Given the description of an element on the screen output the (x, y) to click on. 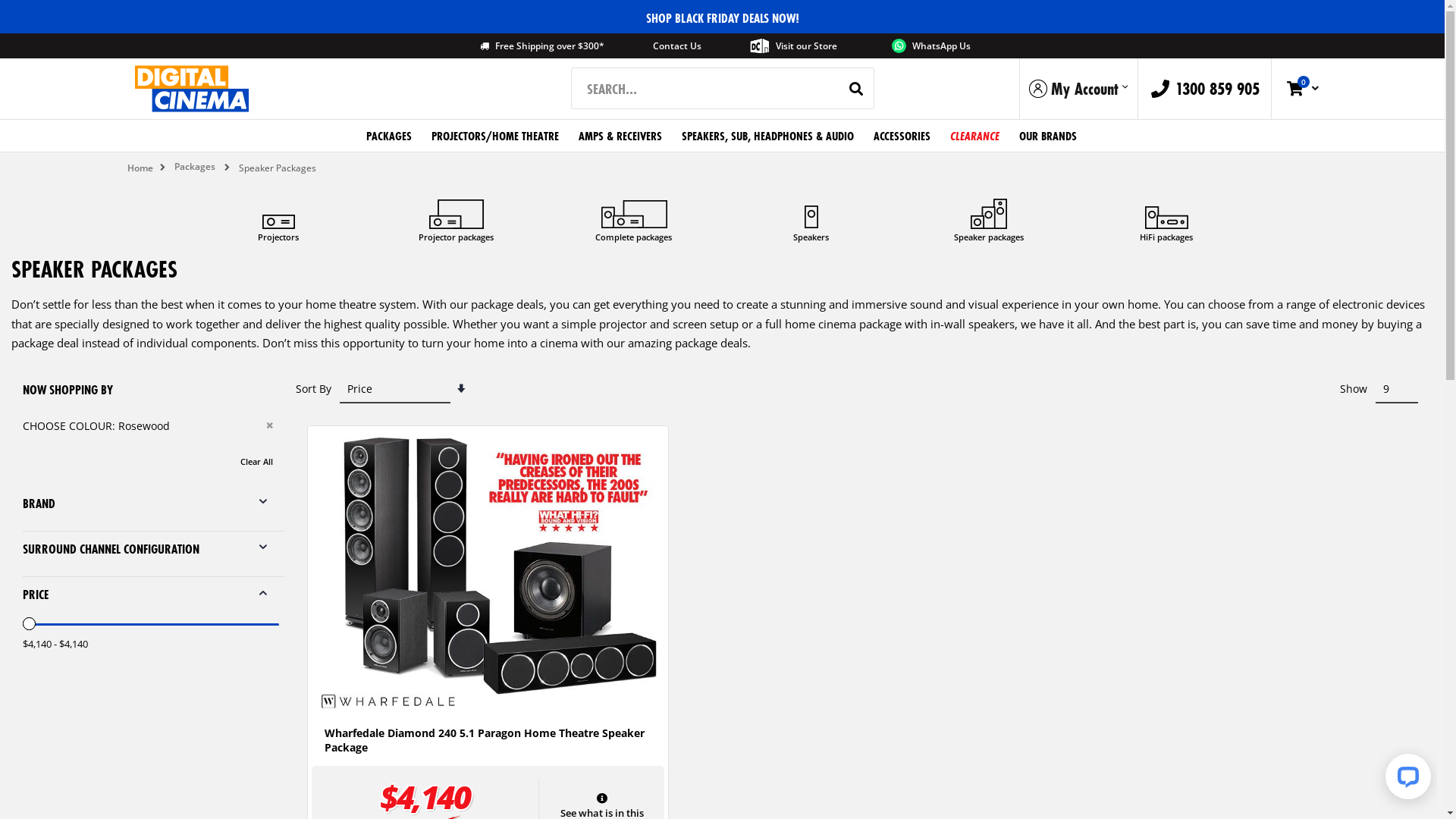
Digital Cinema Home Theatre Element type: hover (191, 88)
PACKAGES Element type: text (387, 135)
Packages Element type: text (194, 166)
  Element type: text (810, 212)
Clear All Element type: text (256, 461)
Set Ascending Direction Element type: text (460, 387)
PROJECTORS/HOME THEATRE Element type: text (494, 135)
SHOP BLACK FRIDAY DEALS NOW! Element type: text (721, 16)
ACCESSORIES Element type: text (902, 135)
  Element type: text (1166, 212)
SEARCH Element type: text (855, 88)
SPEAKERS, SUB, HEADPHONES & AUDIO Element type: text (766, 135)
Cart
0 Element type: text (1304, 88)
Free Shipping over $300* Element type: text (538, 45)
  Element type: text (455, 212)
1300 859 905 Element type: text (1204, 88)
  Element type: text (633, 212)
Contact Us Element type: text (676, 45)
AMPS & RECEIVERS Element type: text (619, 135)
Skip to Content Element type: text (115, 32)
Remove Choose colour Rosewood Element type: hover (269, 424)
Home Element type: text (140, 167)
  Element type: text (278, 212)
WhatsApp Us Element type: text (927, 45)
LiveChat chat widget Element type: hover (1405, 779)
CLEARANCE Element type: text (973, 135)
OUR BRANDS Element type: text (1047, 135)
Visit our Store Element type: text (793, 45)
  Element type: text (988, 212)
